Given the description of an element on the screen output the (x, y) to click on. 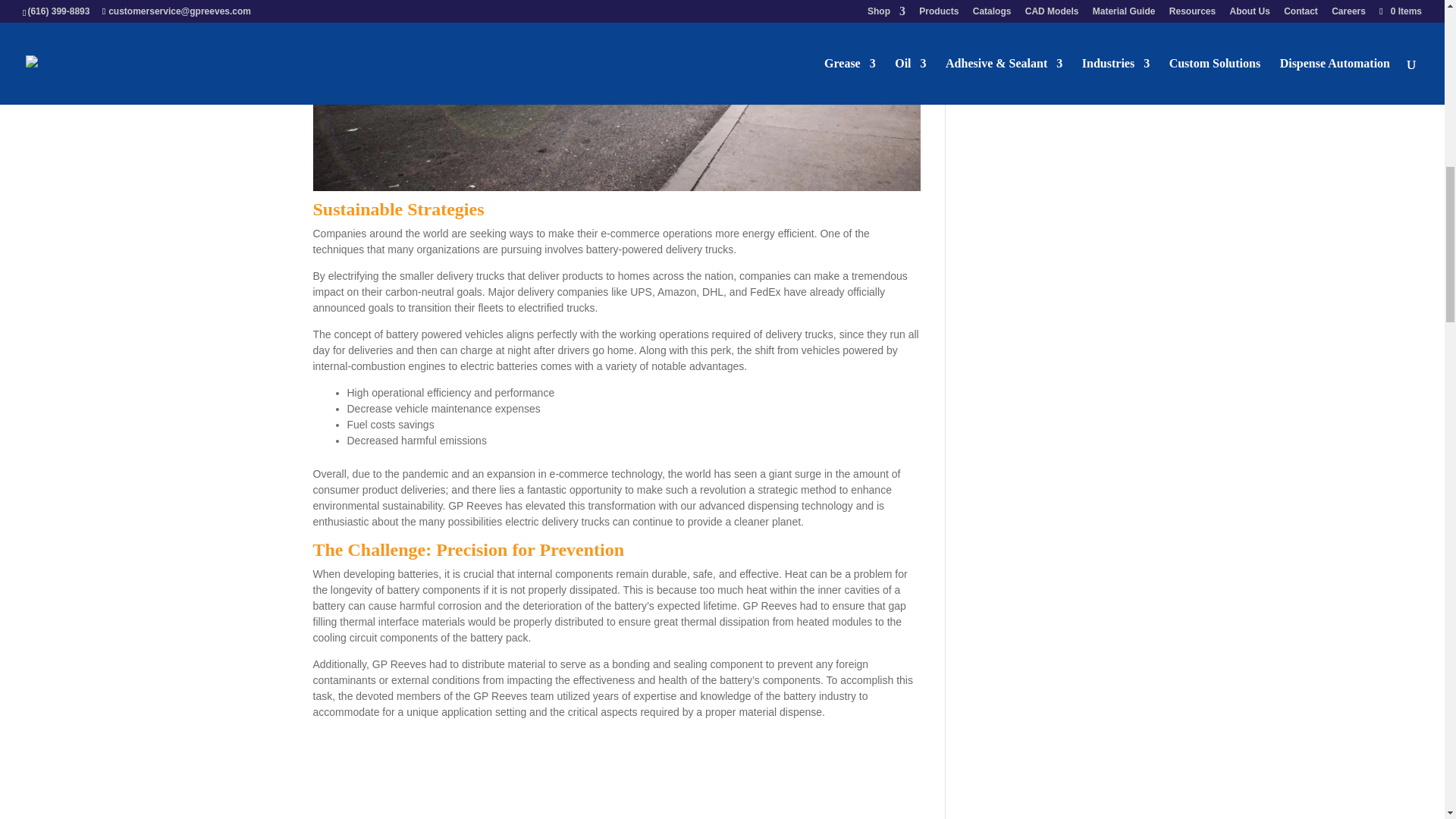
markus-winkler-3vlGNkDep4E-unsplash (616, 774)
norbert-kundrak-shMymEhk86g-unsplash (616, 95)
